Given the description of an element on the screen output the (x, y) to click on. 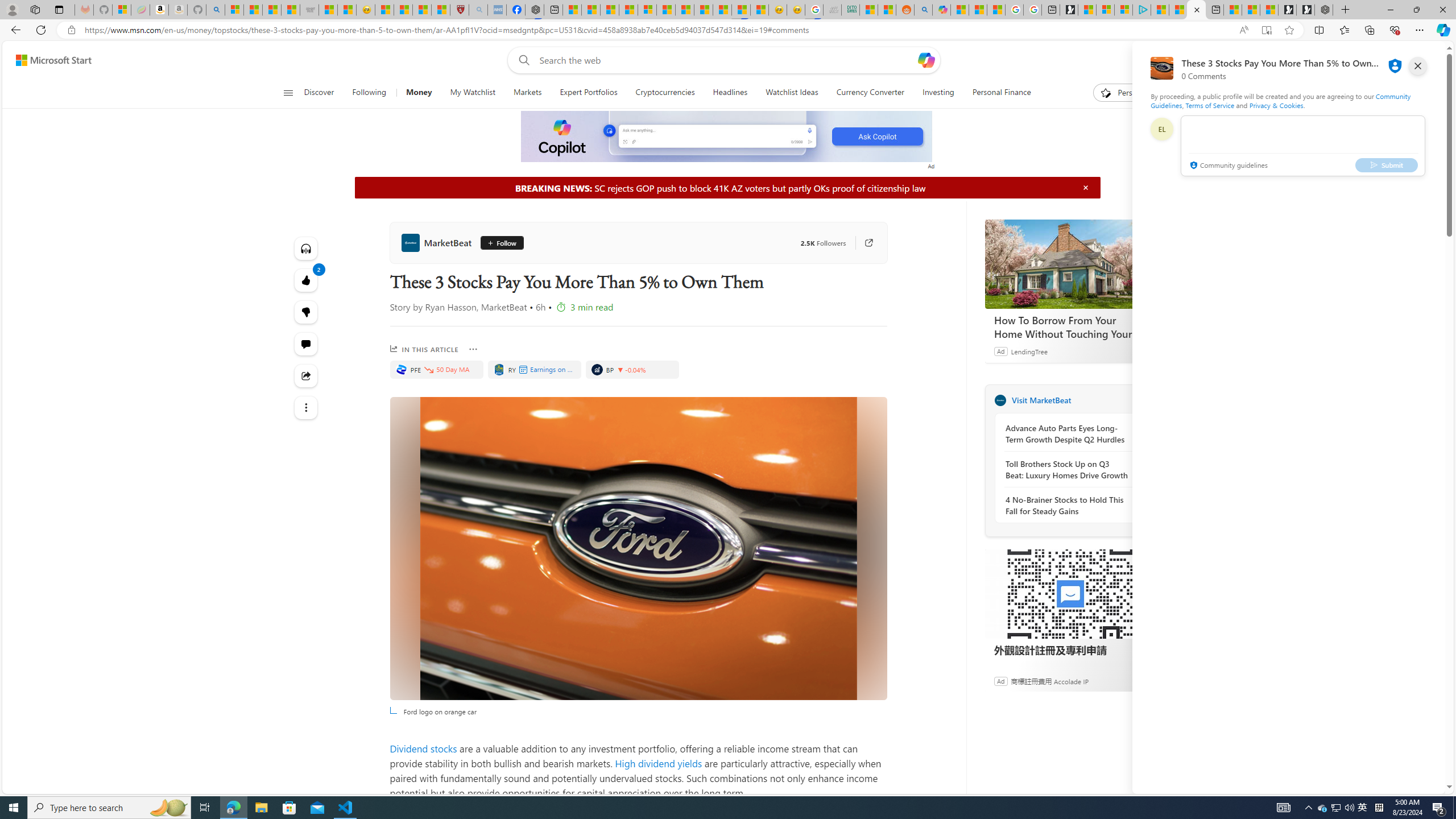
Start the conversation (305, 343)
2 Like (305, 279)
Open navigation menu (287, 92)
My Watchlist (472, 92)
Price decrease (620, 369)
Ford logo on orange car (638, 548)
Ad Choice (1142, 680)
Web search (520, 60)
2 (305, 312)
close (1417, 65)
Personal Finance (996, 92)
